Given the description of an element on the screen output the (x, y) to click on. 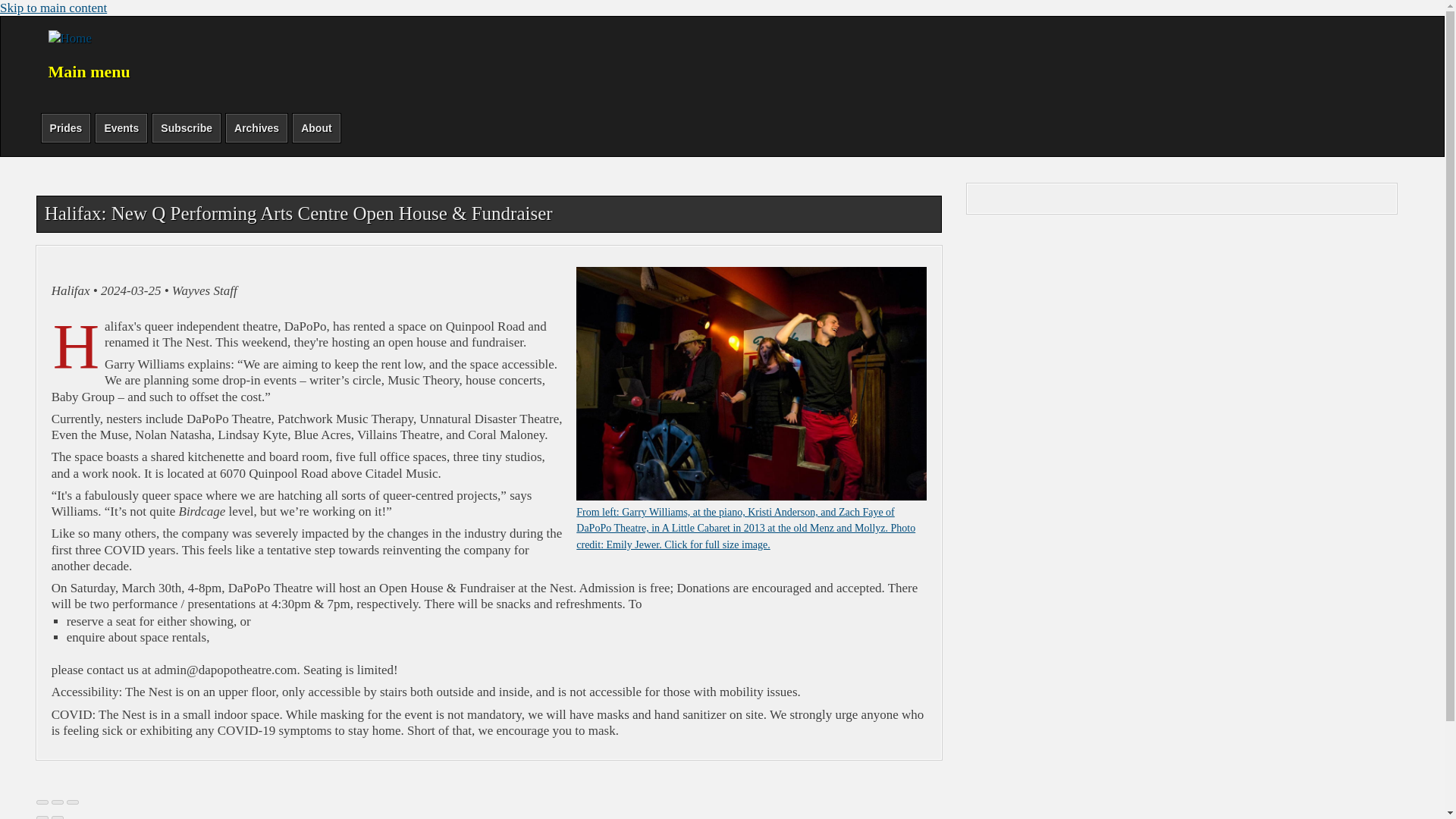
Prides (65, 127)
Archives (256, 127)
Skip to main content (53, 7)
Be notified of new articles (186, 127)
Subscribe (186, 127)
Events (121, 127)
Toggle fullscreen (57, 802)
About (316, 127)
